Given the description of an element on the screen output the (x, y) to click on. 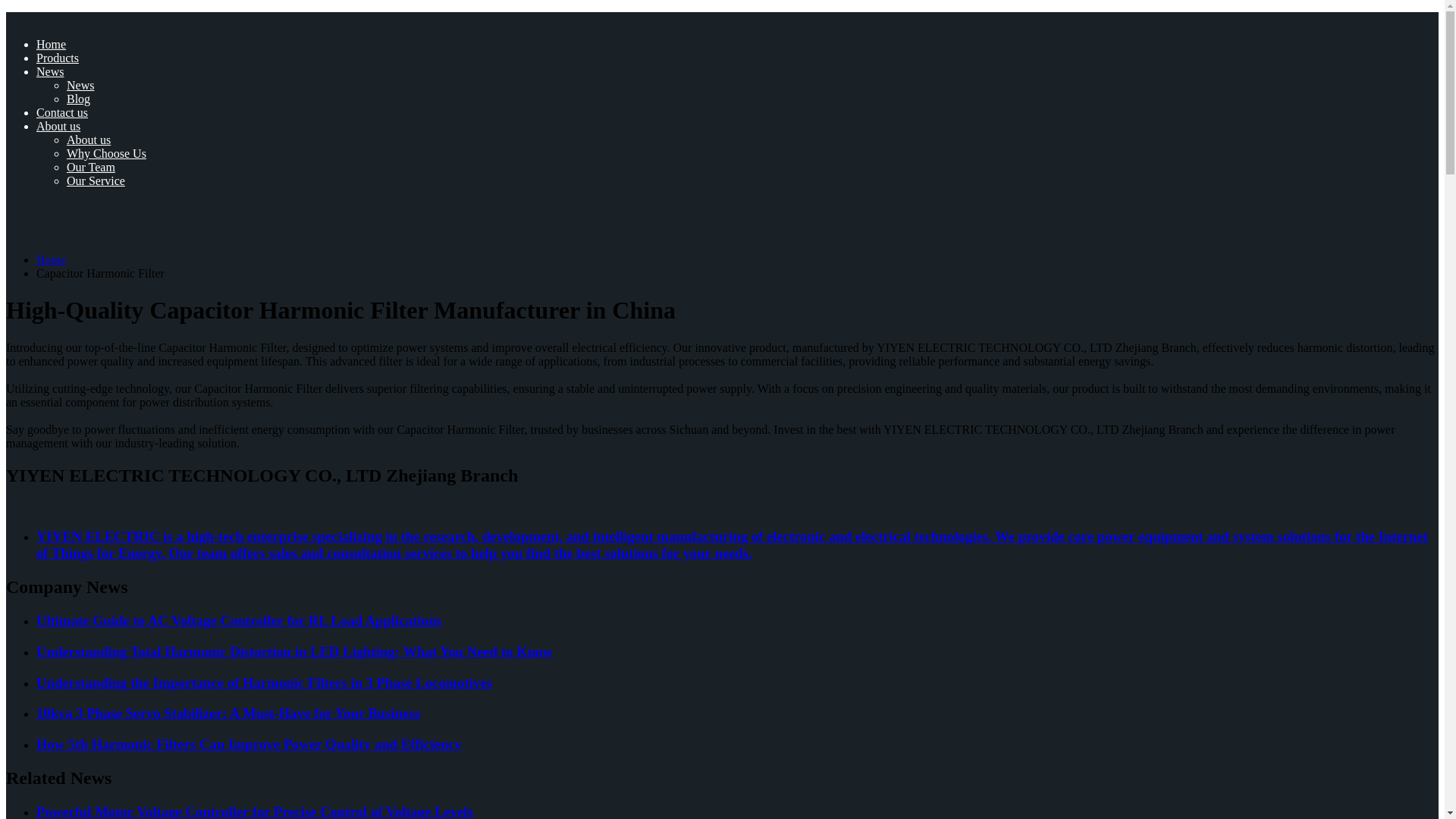
Home (50, 43)
Products (57, 57)
Our Team (90, 166)
Blog (78, 98)
News (50, 71)
Why Choose Us (106, 153)
About us (88, 139)
Home (50, 259)
About us (58, 125)
Our Service (95, 180)
